Given the description of an element on the screen output the (x, y) to click on. 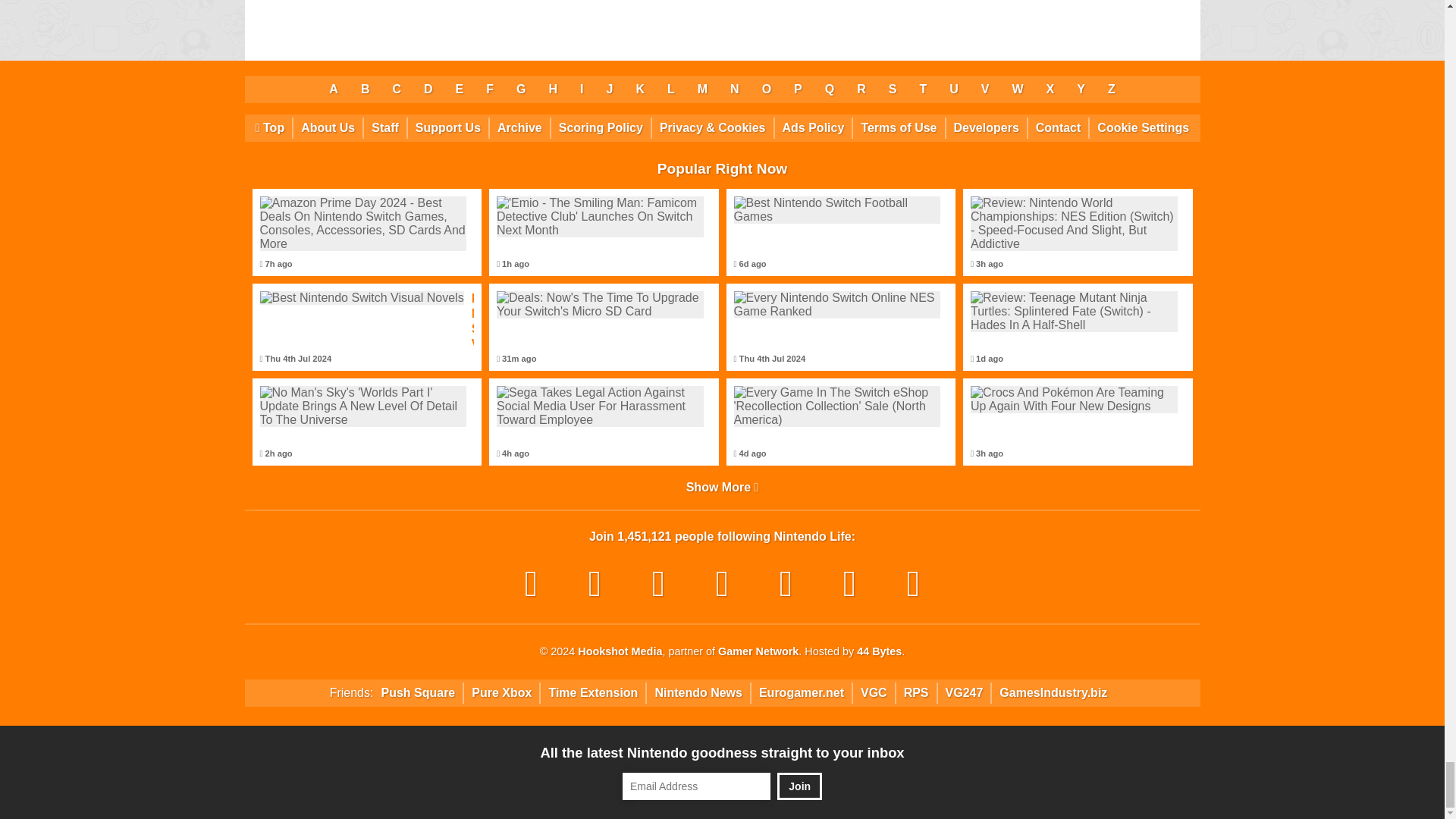
Join (799, 786)
